Given the description of an element on the screen output the (x, y) to click on. 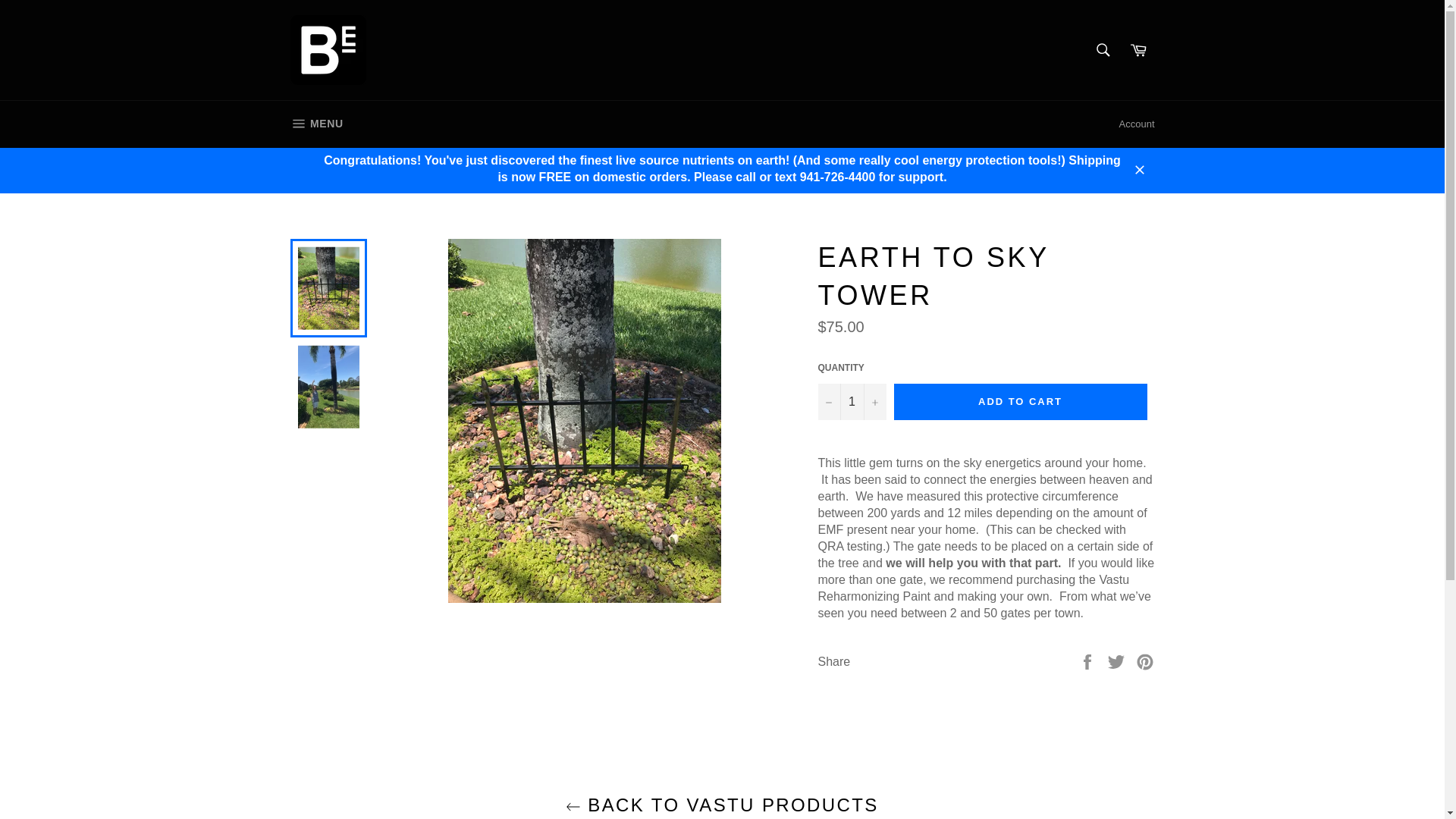
Share on Facebook (1088, 660)
Pin on Pinterest (1144, 660)
Tweet on Twitter (1117, 660)
1 (850, 402)
